Given the description of an element on the screen output the (x, y) to click on. 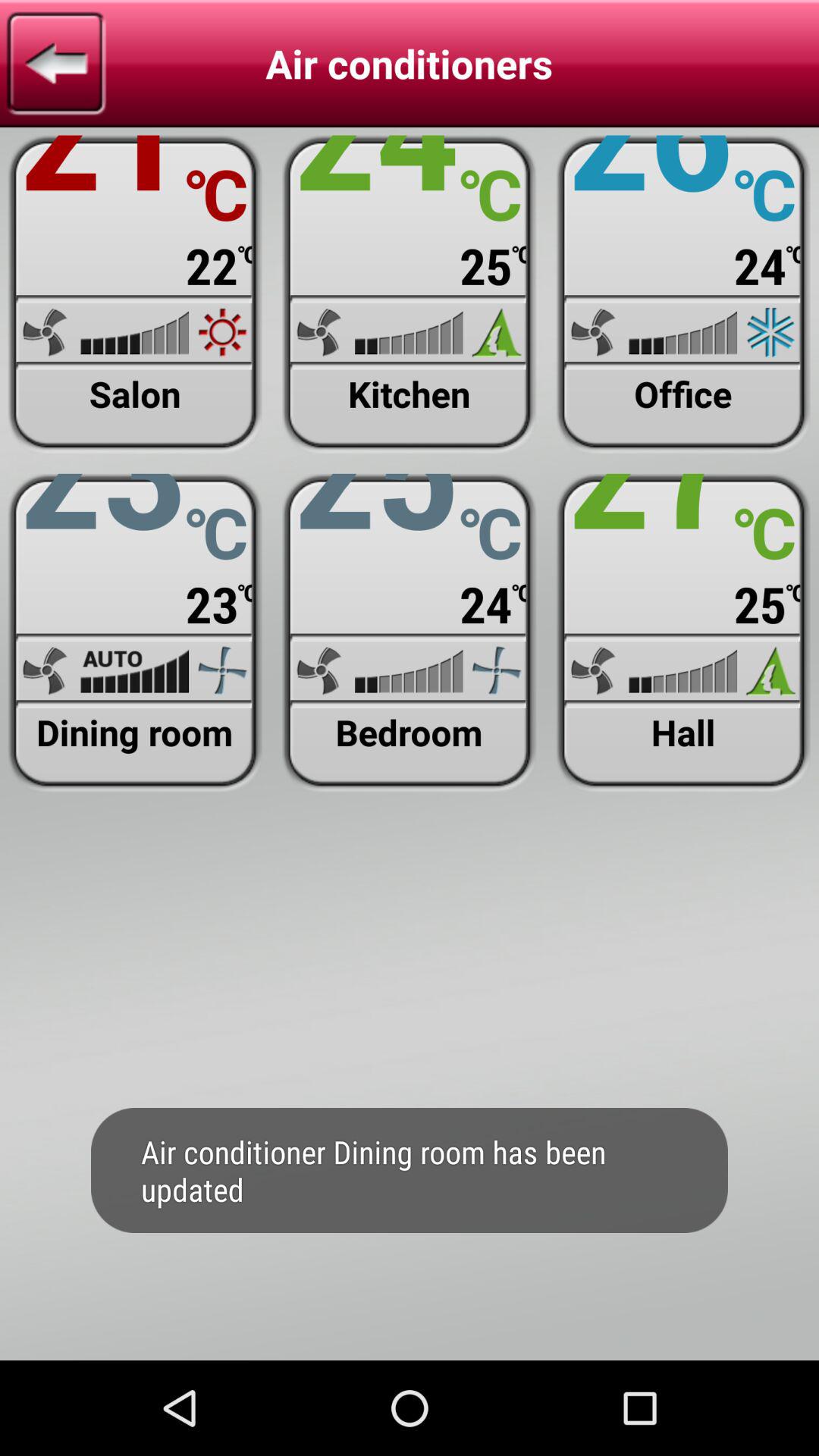
control salon temperature (134, 294)
